Given the description of an element on the screen output the (x, y) to click on. 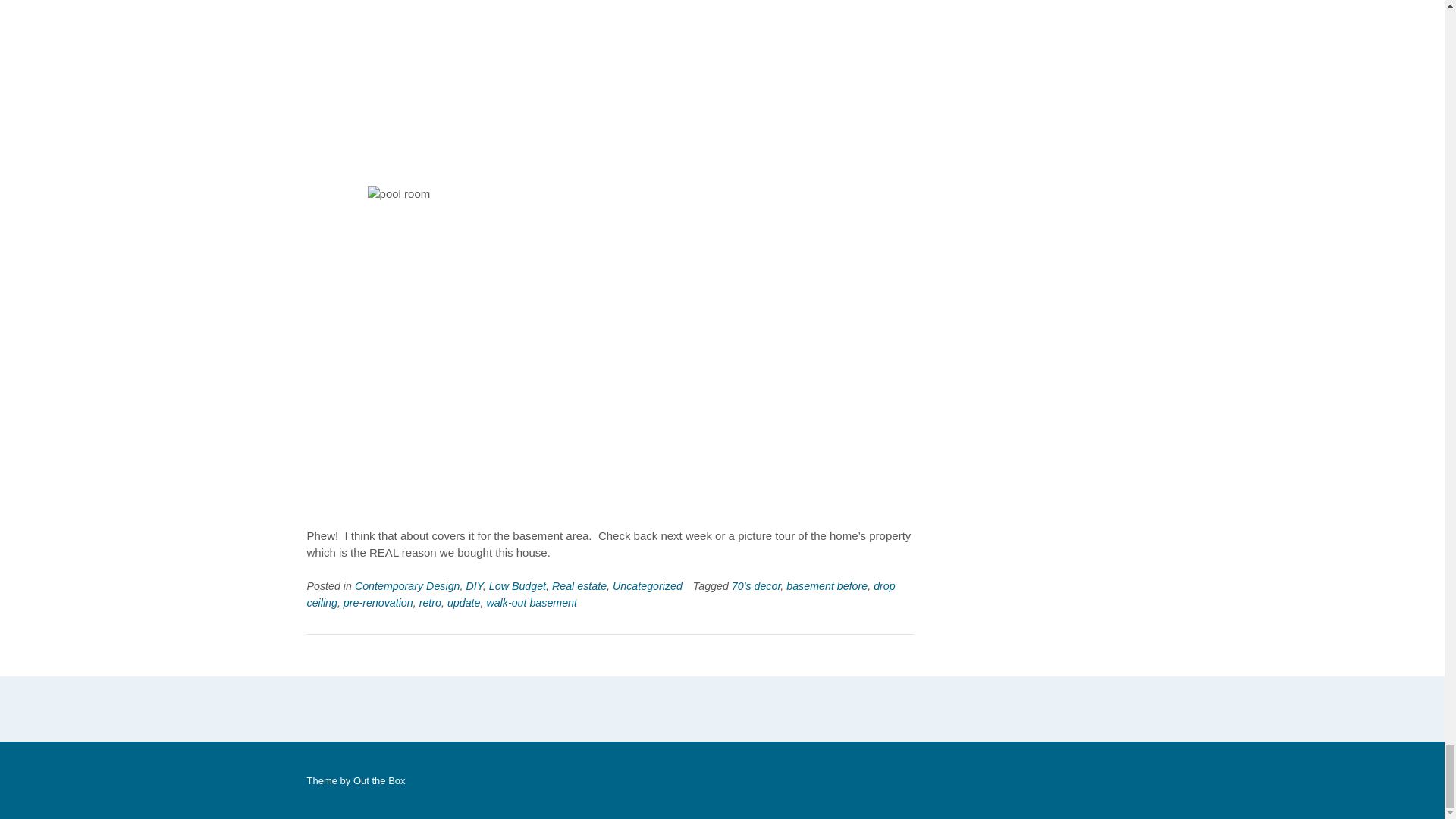
update (463, 603)
pre-renovation (378, 603)
Real estate (579, 585)
Uncategorized (647, 585)
Contemporary Design (407, 585)
DIY (473, 585)
70's decor (756, 585)
retro (430, 603)
Low Budget (517, 585)
Out the Box (379, 780)
drop ceiling (600, 593)
basement before (826, 585)
walk-out basement (531, 603)
